Given the description of an element on the screen output the (x, y) to click on. 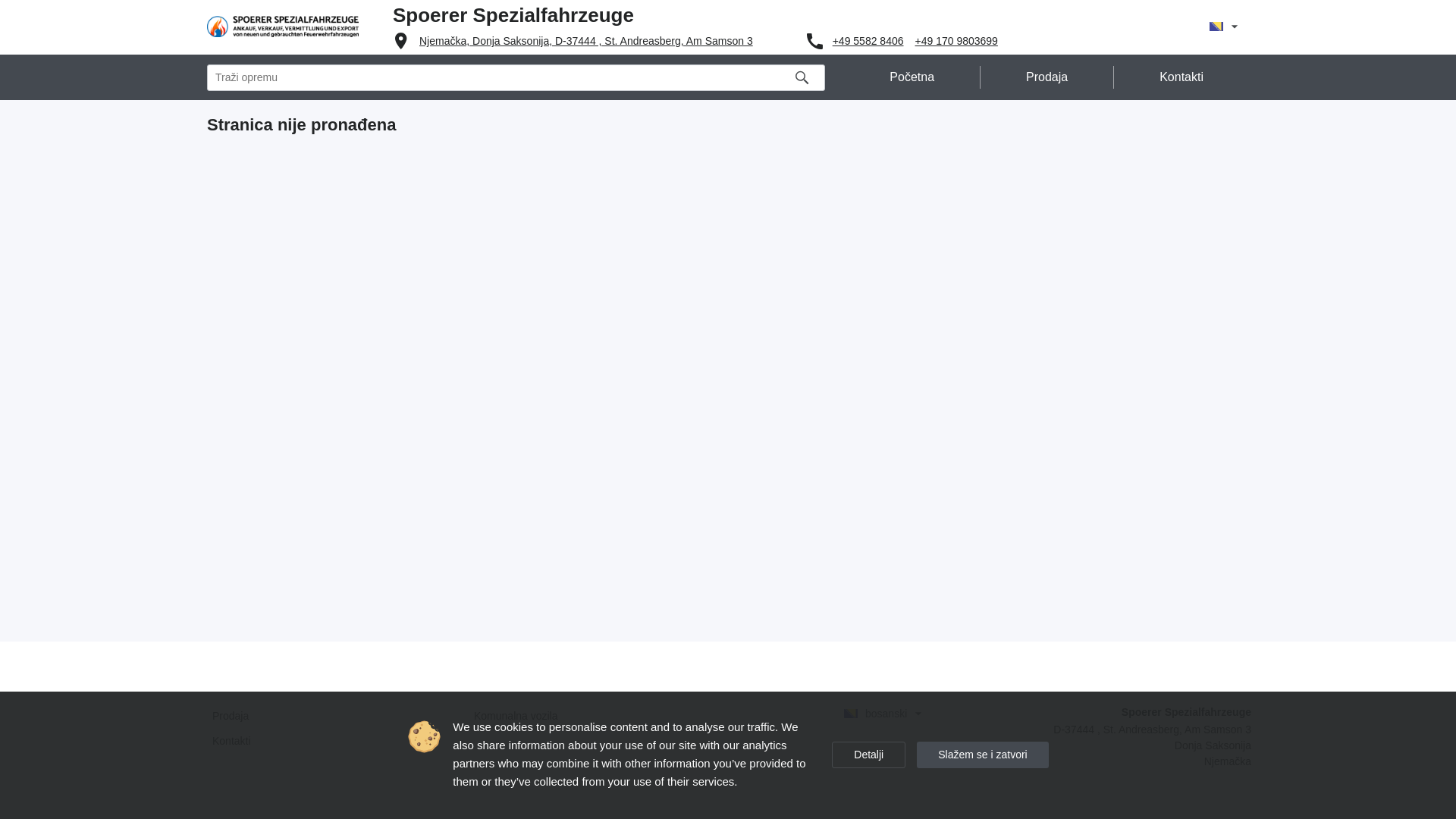
Prodaja Element type: text (1046, 76)
Kontakti Element type: text (1180, 76)
Komunalna vozila Element type: text (596, 715)
Kontakti Element type: text (335, 740)
+49 5582 8406 Element type: text (867, 40)
+49 170 9803699 Element type: text (956, 40)
Detalji Element type: text (868, 754)
Prodaja Element type: text (335, 715)
